Given the description of an element on the screen output the (x, y) to click on. 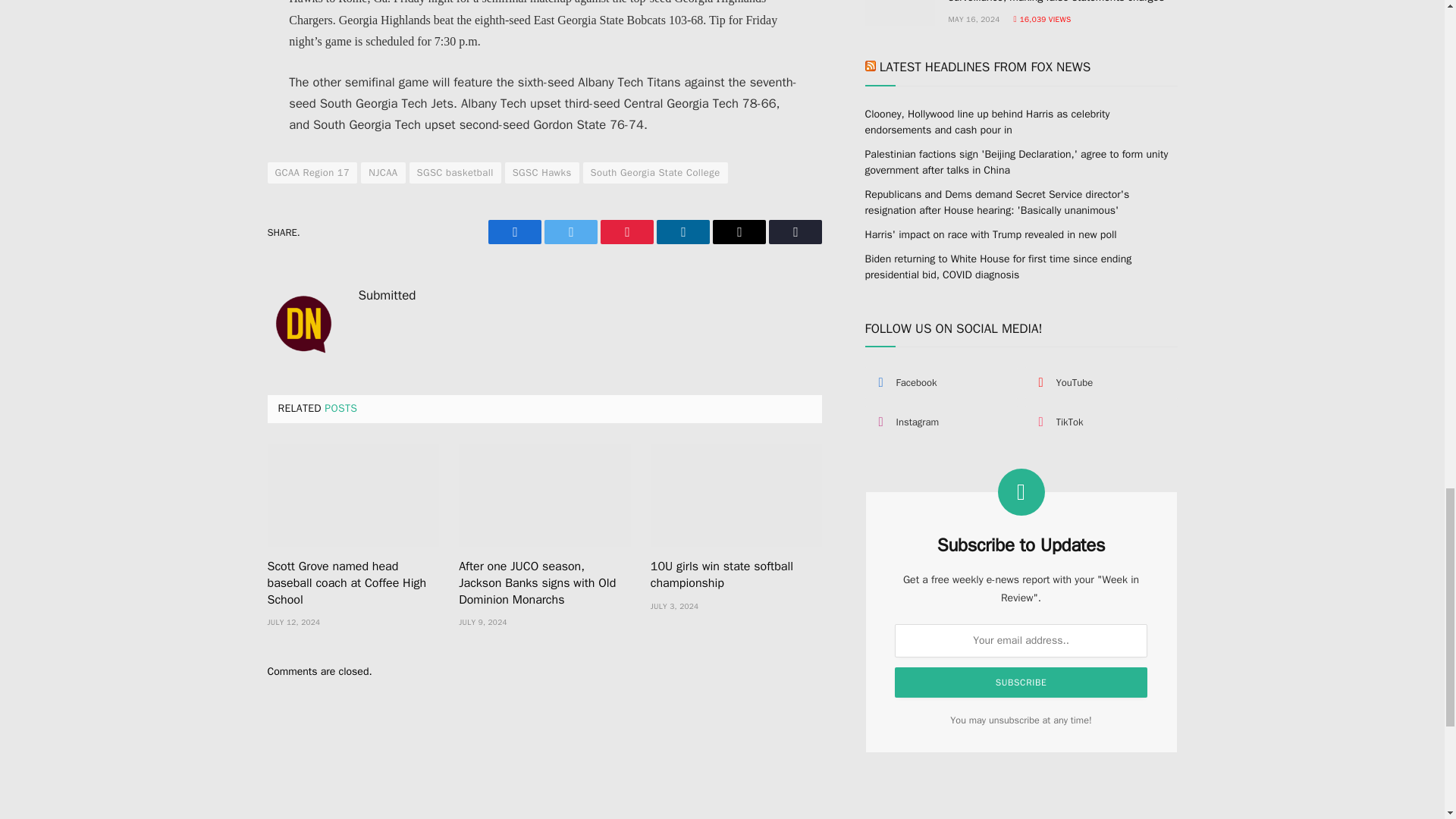
Subscribe (1021, 682)
